Given the description of an element on the screen output the (x, y) to click on. 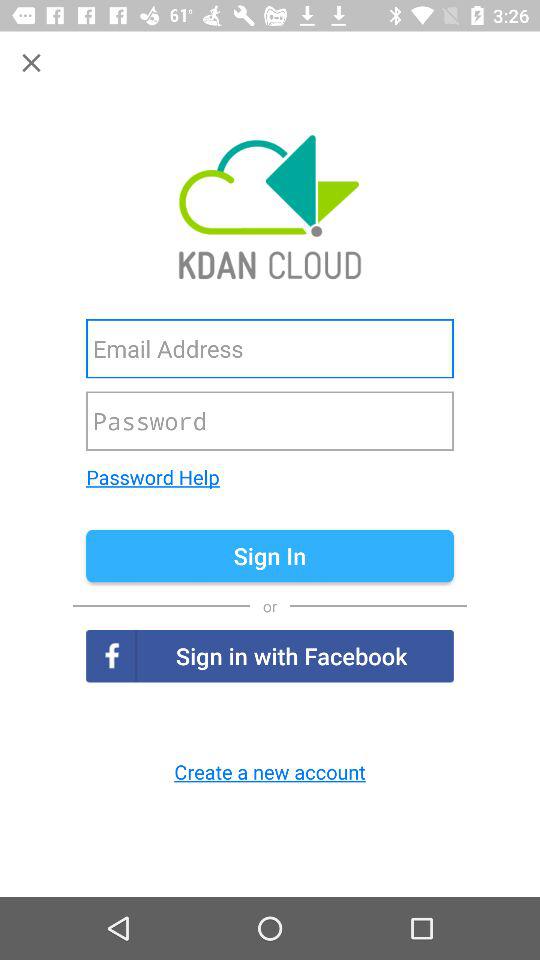
close (31, 62)
